Given the description of an element on the screen output the (x, y) to click on. 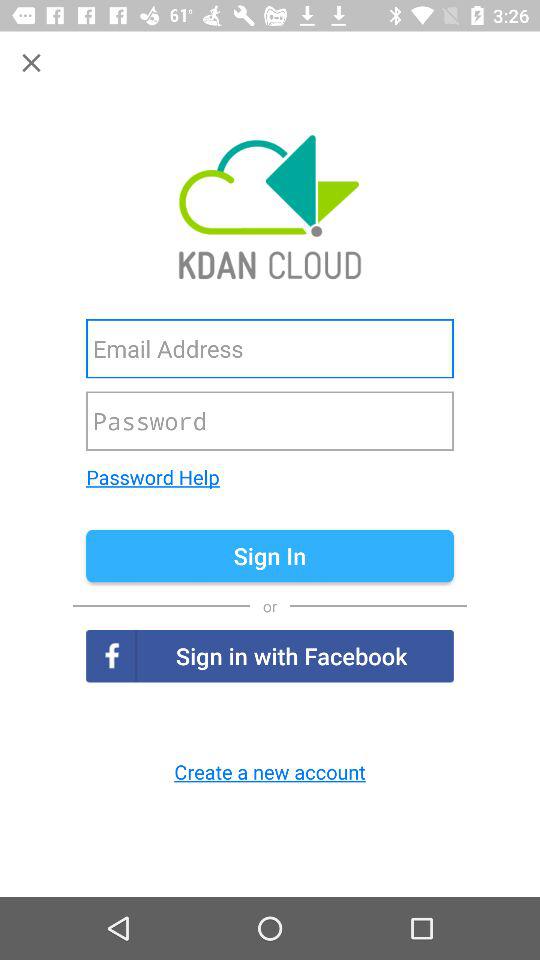
close (31, 62)
